Given the description of an element on the screen output the (x, y) to click on. 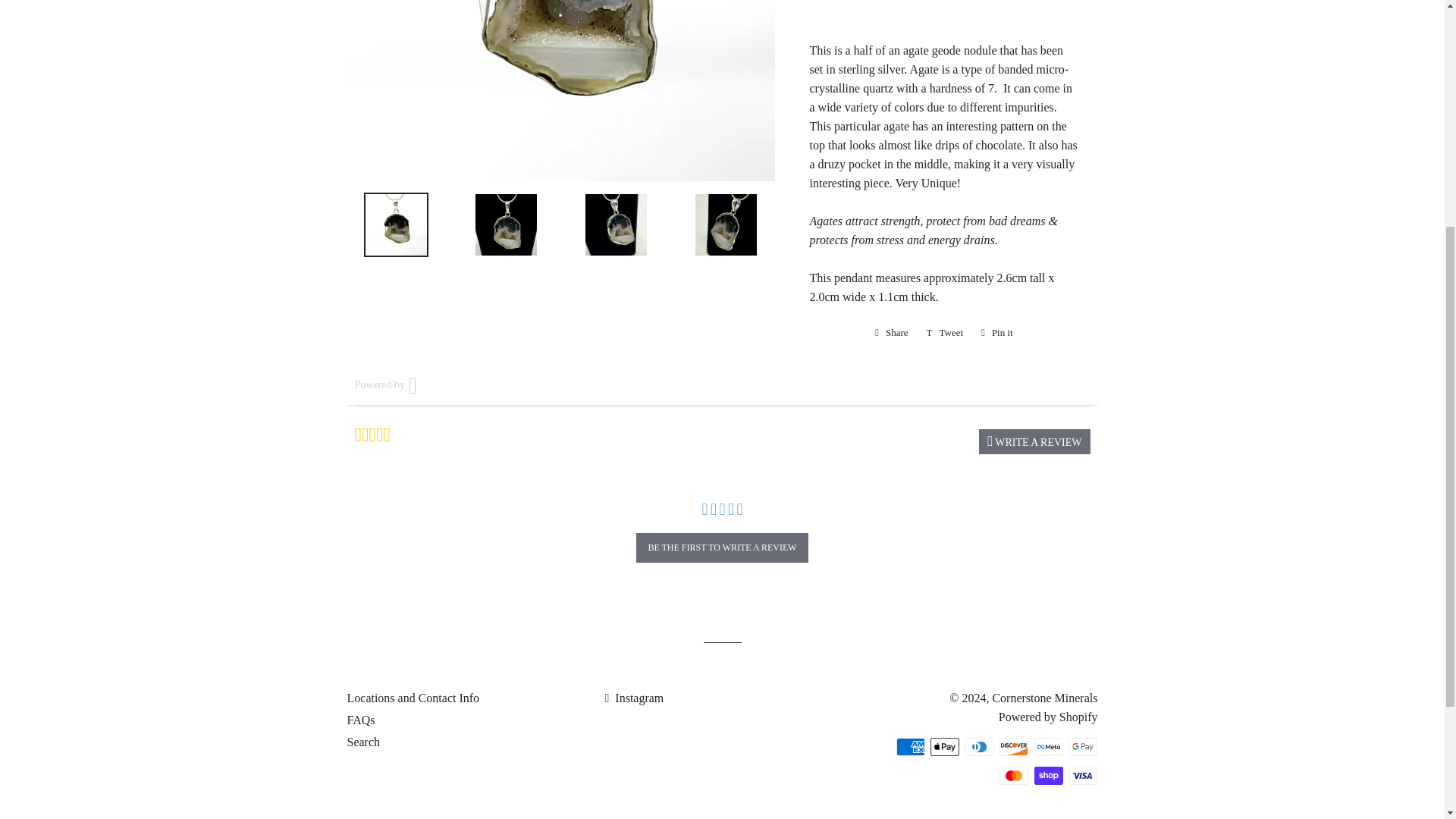
Cornerstone Minerals on Instagram (633, 697)
Discover (1012, 746)
Pin on Pinterest (997, 332)
Meta Pay (1047, 746)
Share on Facebook (891, 332)
Google Pay (1082, 746)
Tweet on Twitter (944, 332)
Diners Club (979, 746)
Visa (1082, 775)
American Express (910, 746)
Apple Pay (944, 746)
Shop Pay (1047, 775)
Mastercard (1012, 775)
